Given the description of an element on the screen output the (x, y) to click on. 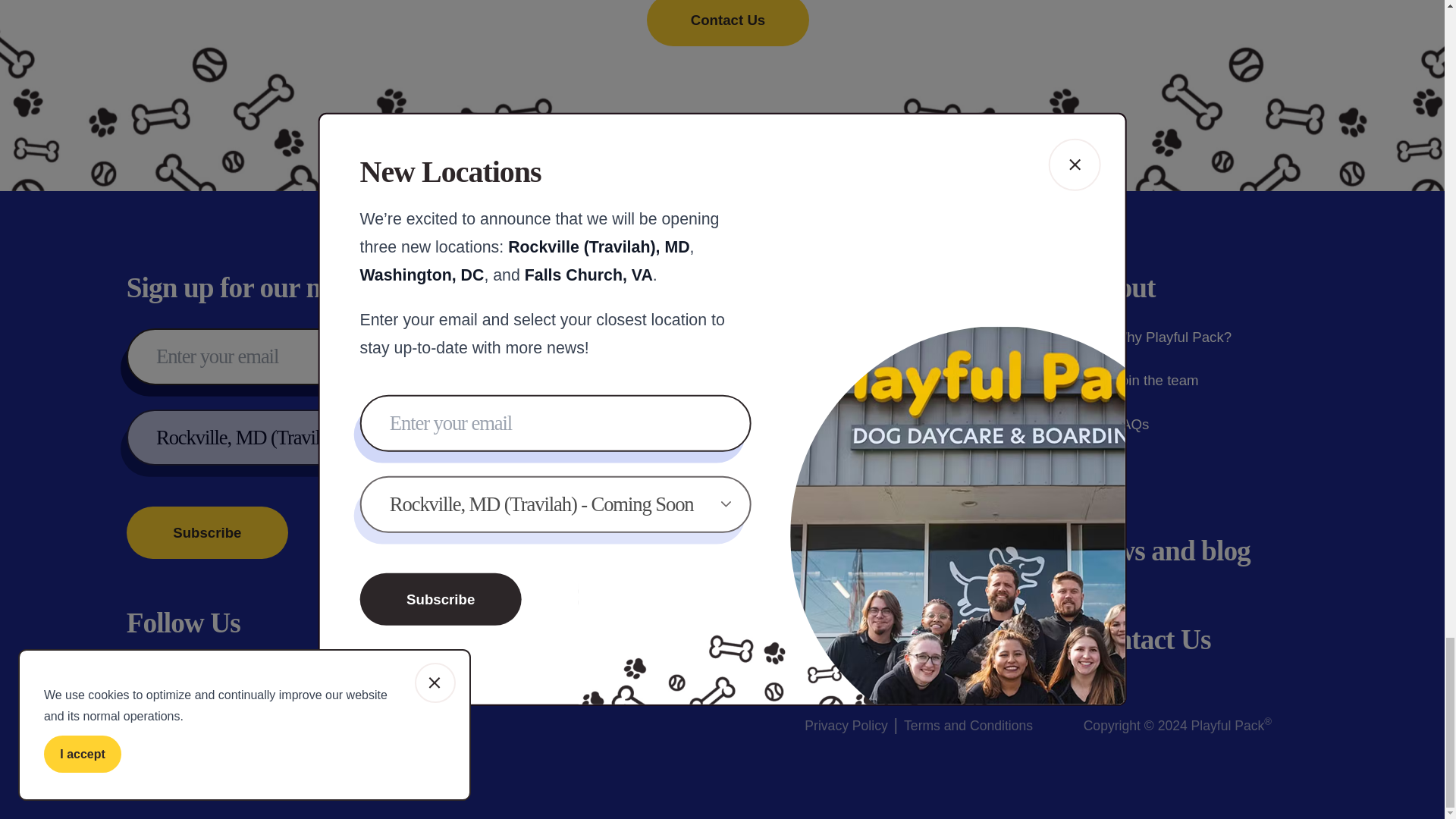
Dog Grooming (865, 424)
Dog Wash (852, 467)
News and blog (1166, 550)
Contact Us (1147, 639)
Why Playful Pack? (1157, 337)
Contact Us (727, 22)
Services (851, 287)
FAQs (1116, 424)
Dog Daycare (861, 337)
Dog Boarding (863, 380)
